Given the description of an element on the screen output the (x, y) to click on. 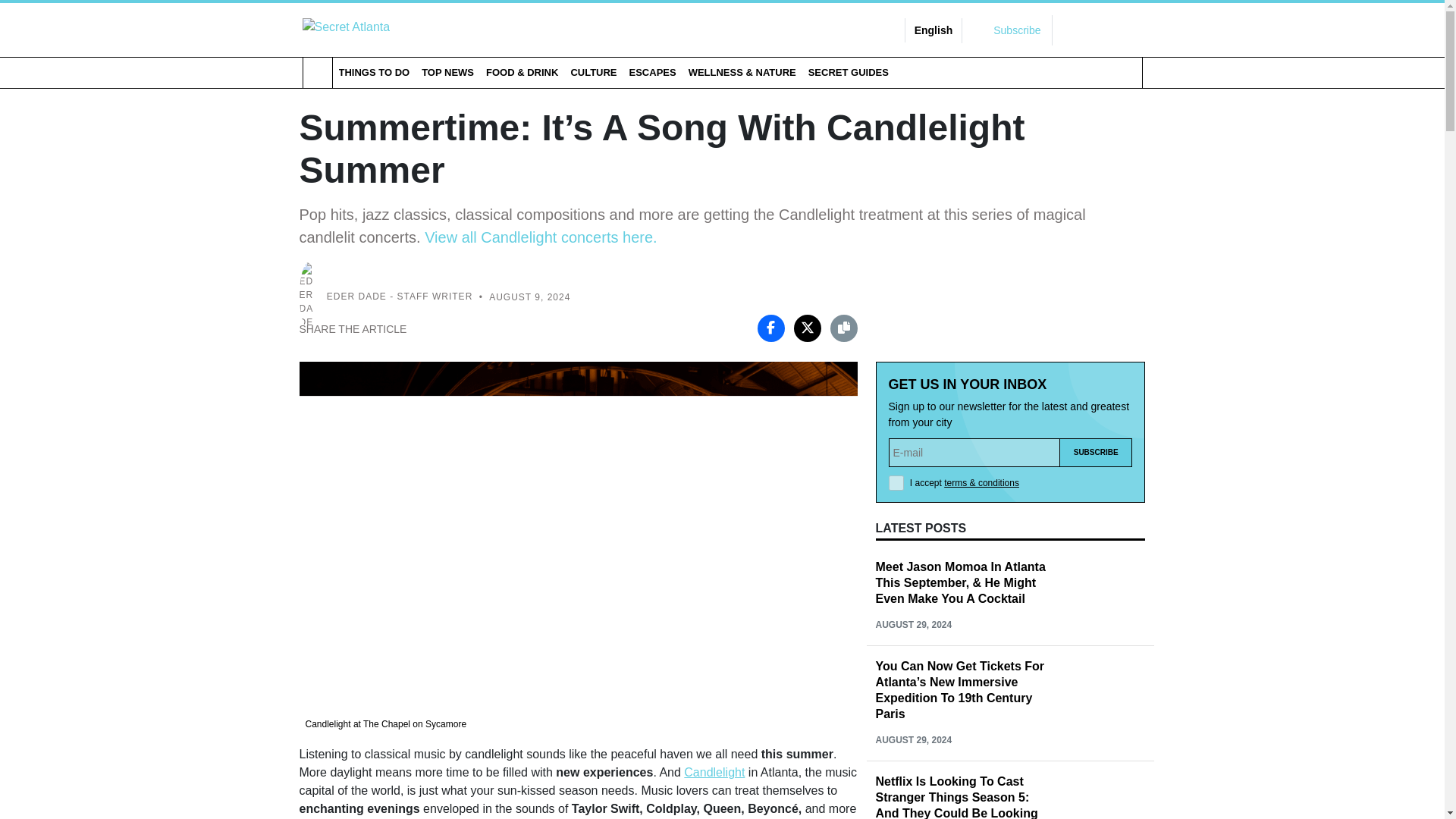
Candlelight (714, 771)
SECRET GUIDES (848, 72)
Subscribe (1095, 452)
CULTURE (592, 72)
EDER DADE (356, 296)
View all Candlelight concerts here. (540, 237)
ESCAPES (652, 72)
English (933, 29)
1 (896, 482)
THINGS TO DO (373, 72)
